Given the description of an element on the screen output the (x, y) to click on. 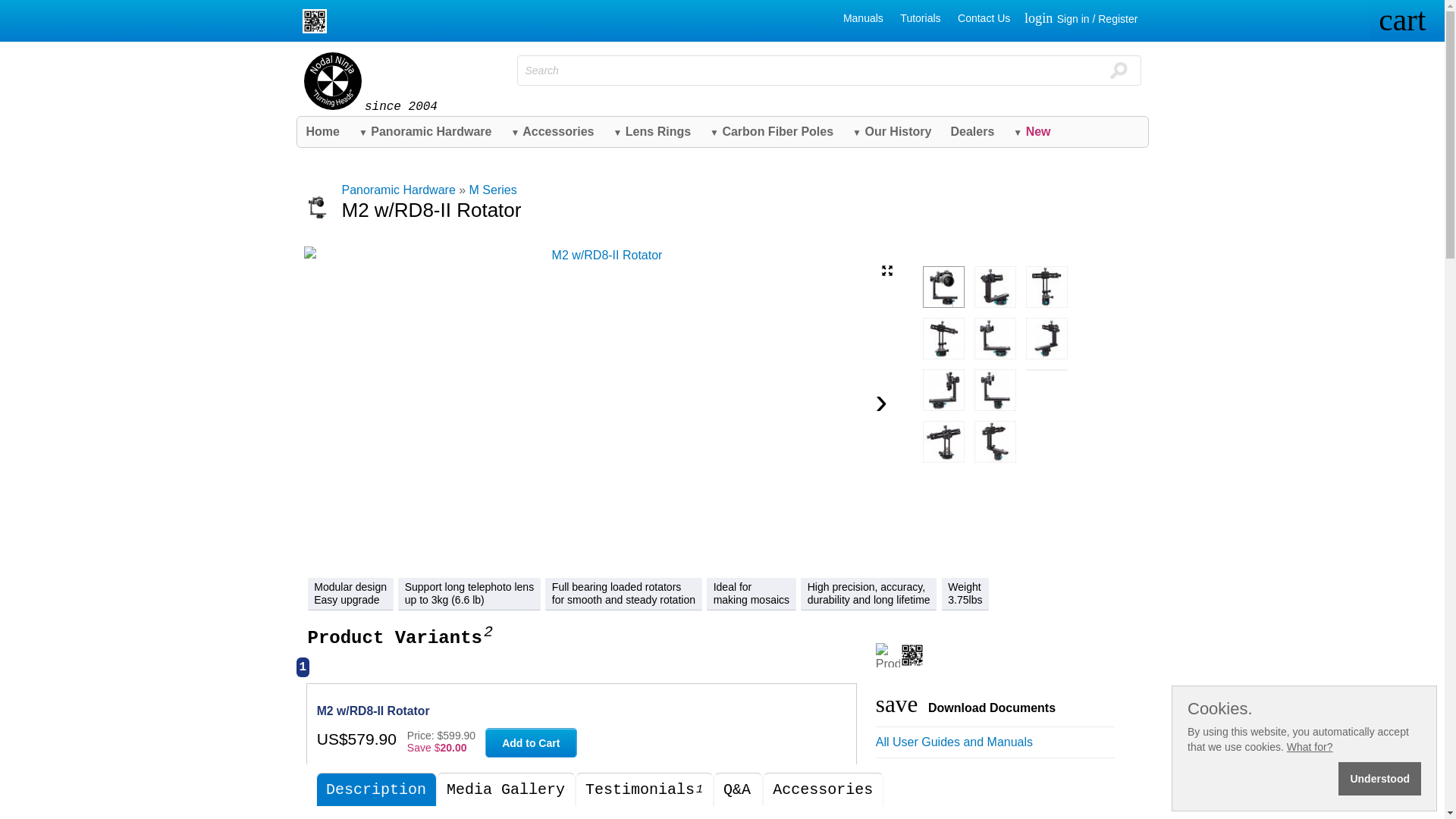
Manuals (863, 17)
Search (1117, 70)
www.nodalninja.com (331, 80)
Click to go fullscreen. (886, 270)
Contact Us (984, 17)
Home (323, 132)
Tutorials (919, 17)
cart (1406, 22)
login (1041, 19)
